Given the description of an element on the screen output the (x, y) to click on. 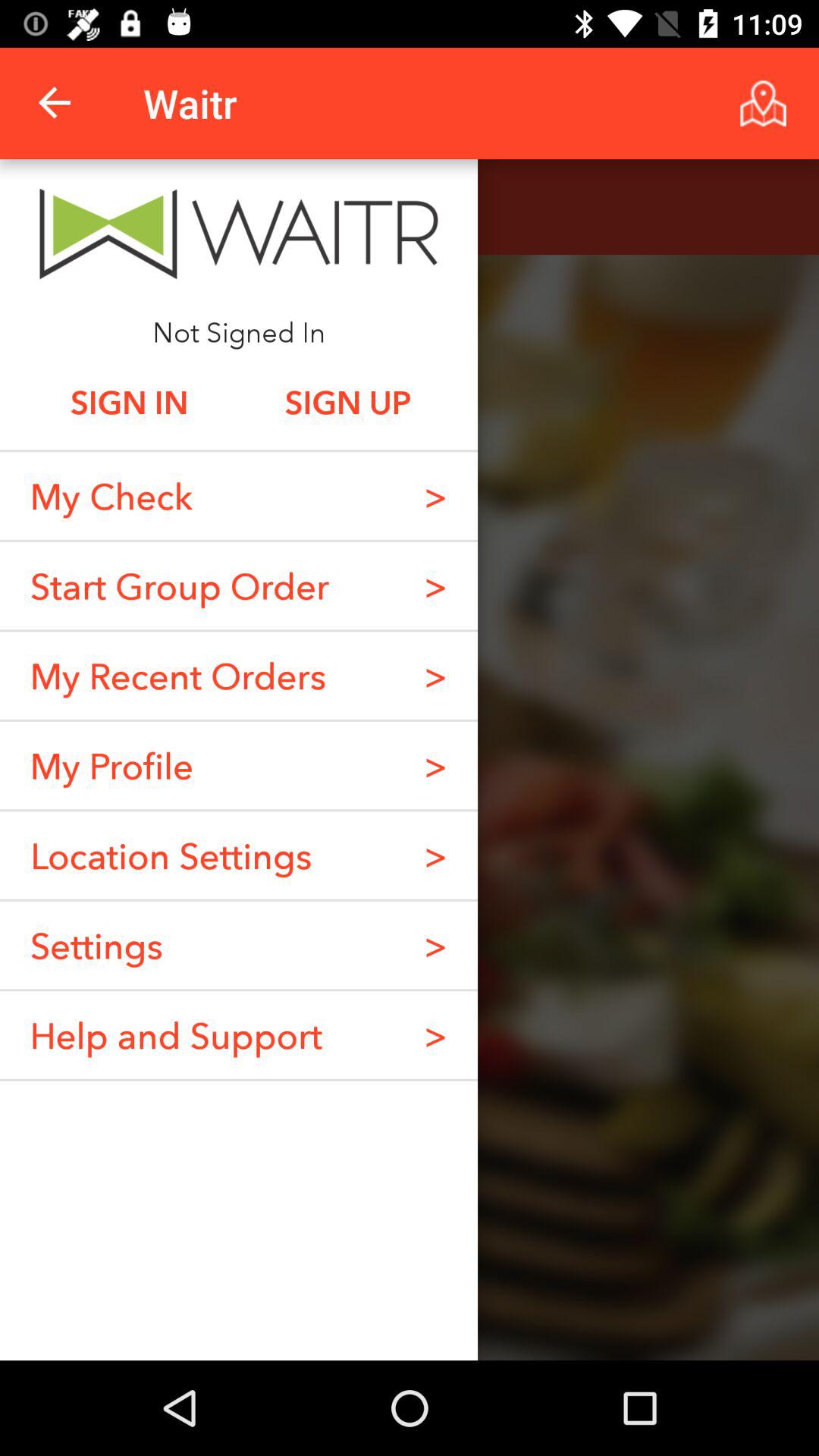
open item above my check (128, 401)
